Given the description of an element on the screen output the (x, y) to click on. 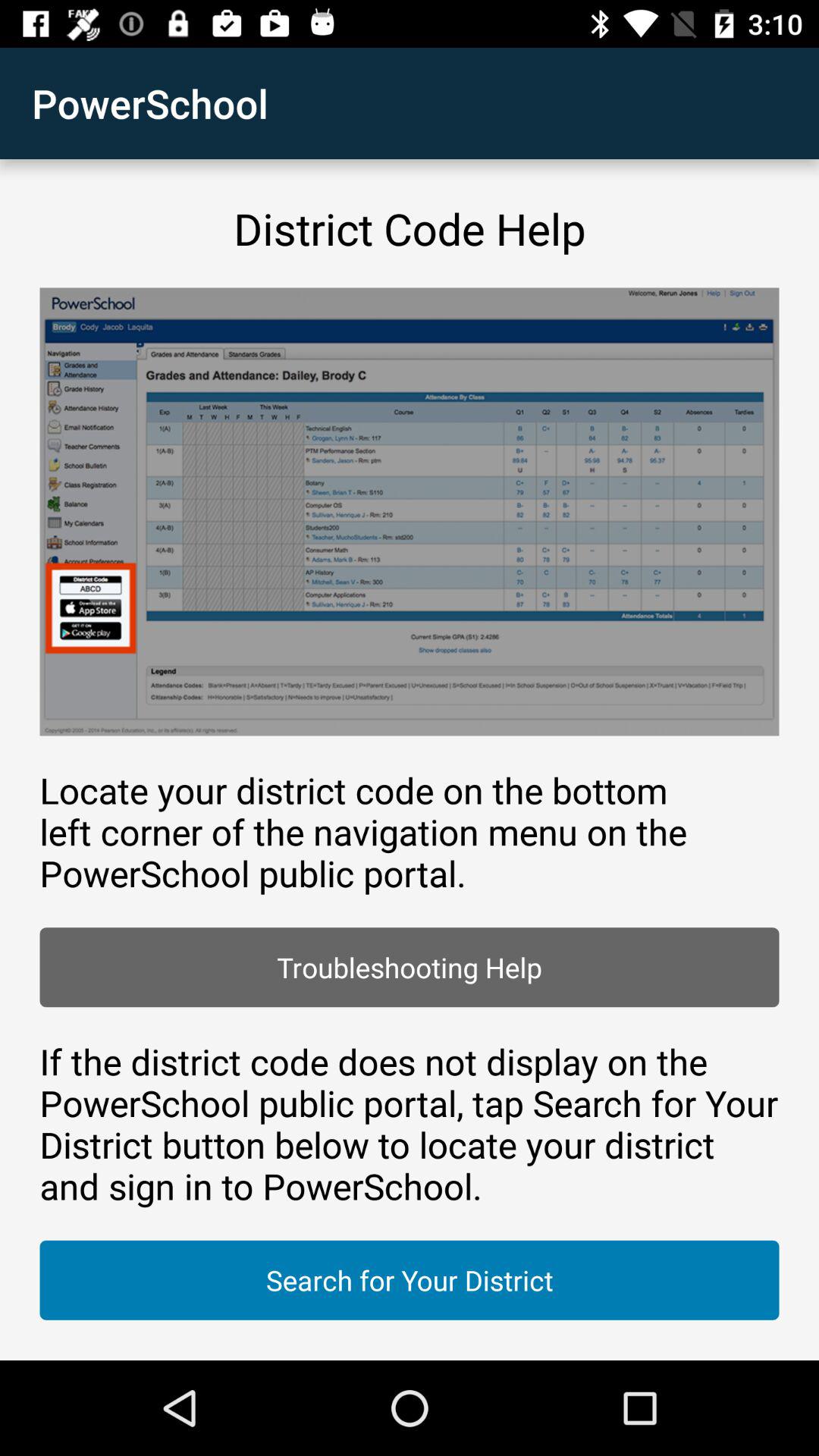
select item below locate your district (409, 967)
